Given the description of an element on the screen output the (x, y) to click on. 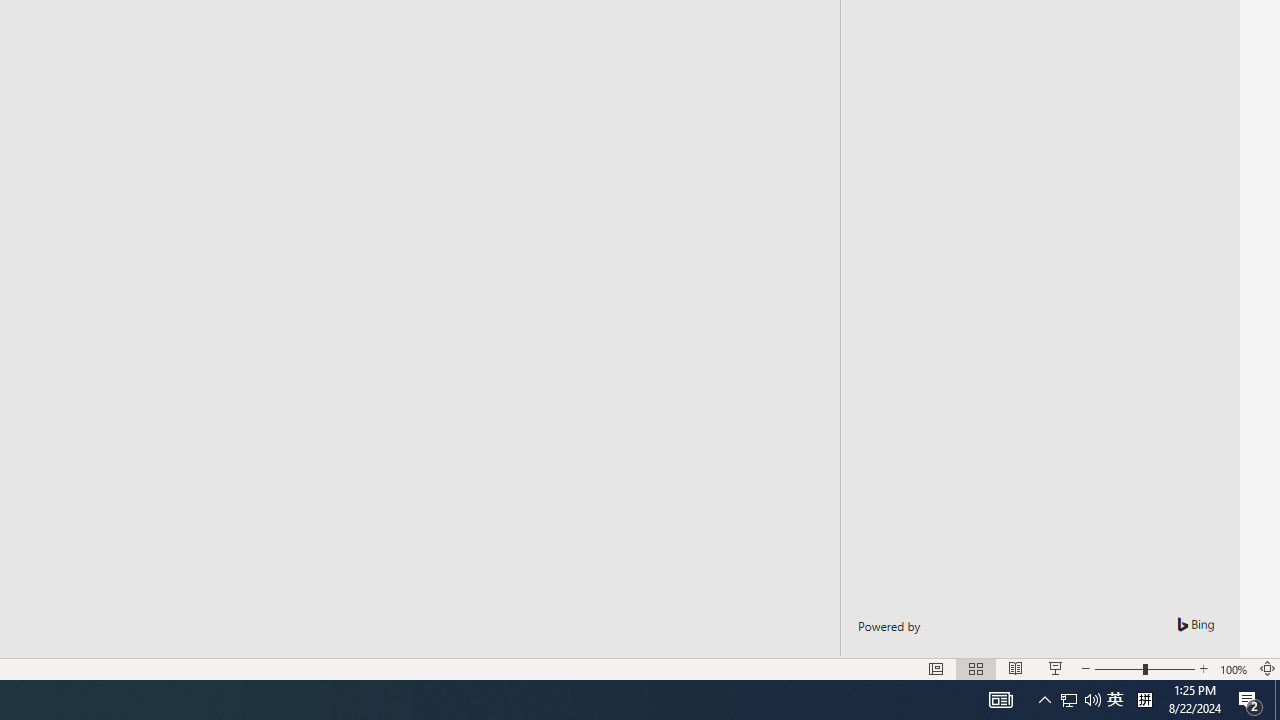
Zoom 100% (1234, 668)
